Given the description of an element on the screen output the (x, y) to click on. 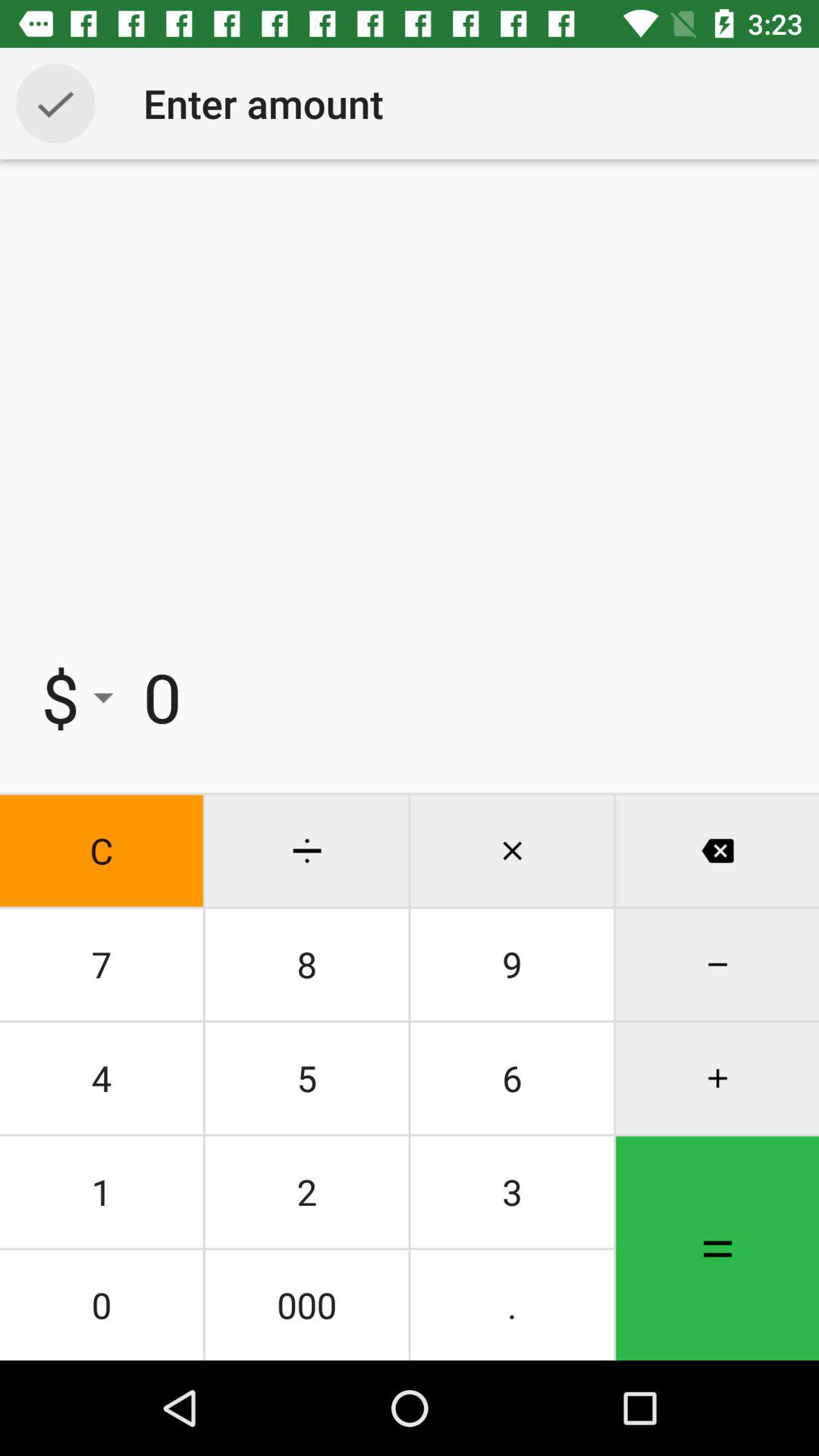
open the icon below the 7 item (306, 1078)
